Given the description of an element on the screen output the (x, y) to click on. 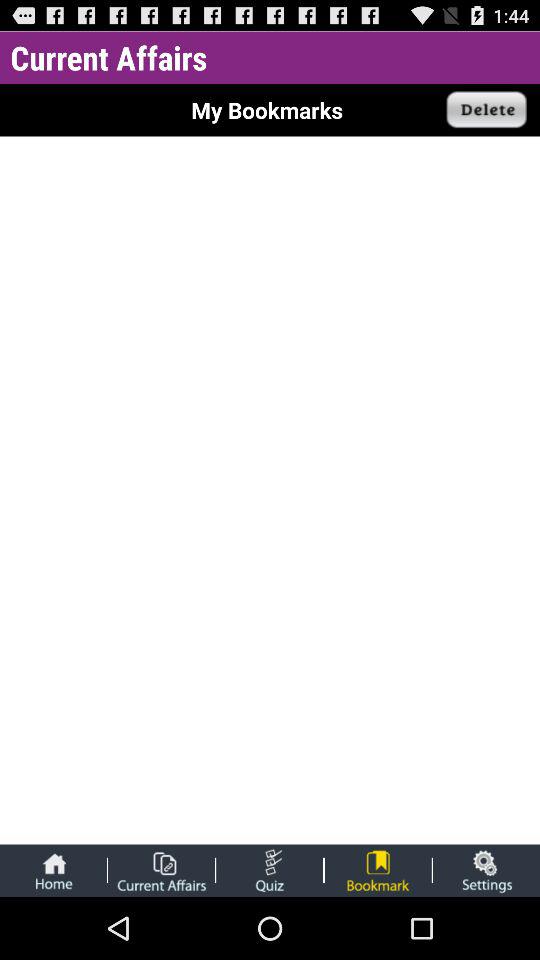
go to my bookmarks (378, 870)
